Given the description of an element on the screen output the (x, y) to click on. 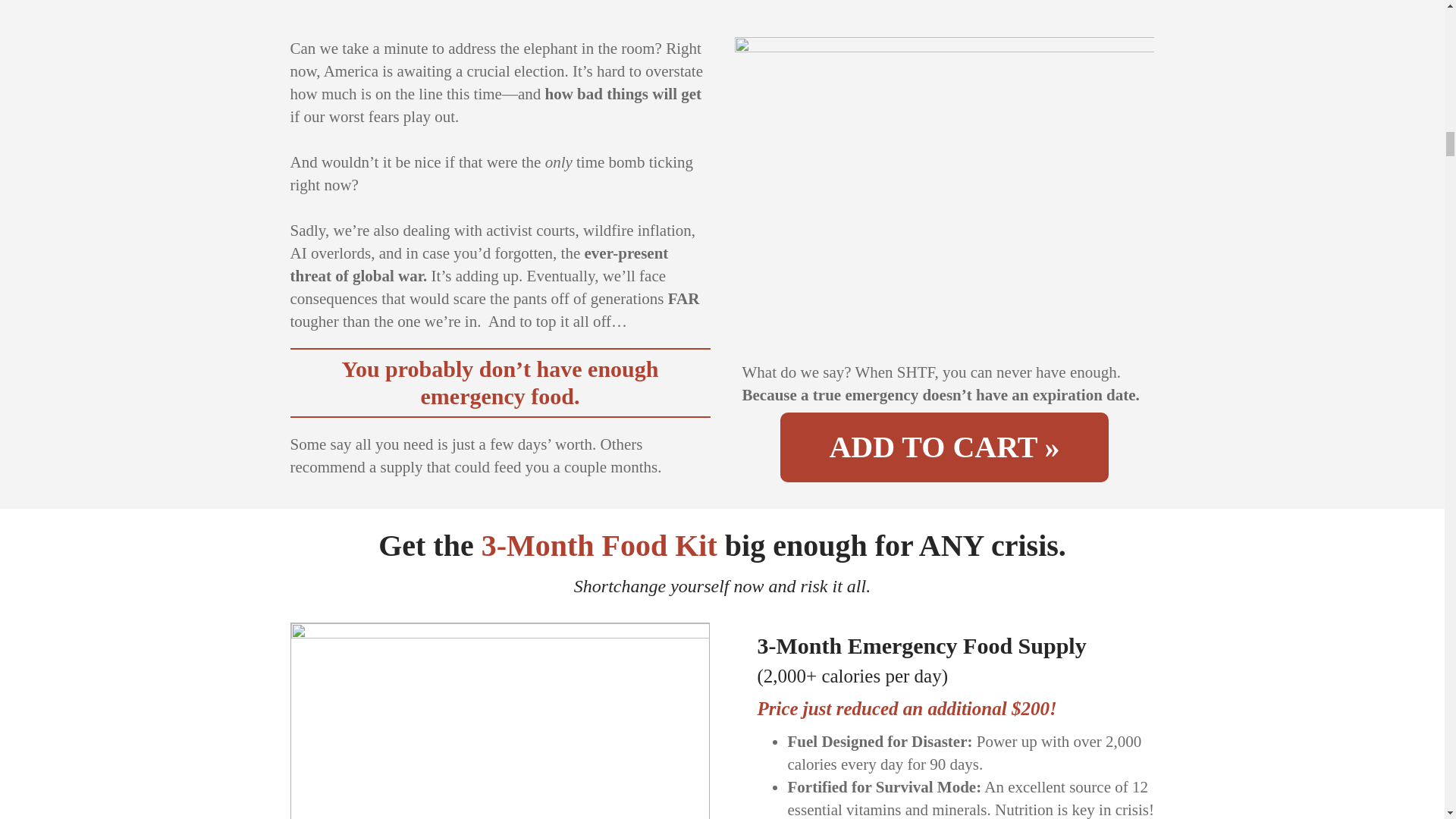
Go to the next slide Next (690, 816)
Go to the previous slide (310, 818)
Go to the next slide (690, 818)
Go to the previous slide Preview (310, 816)
